Given the description of an element on the screen output the (x, y) to click on. 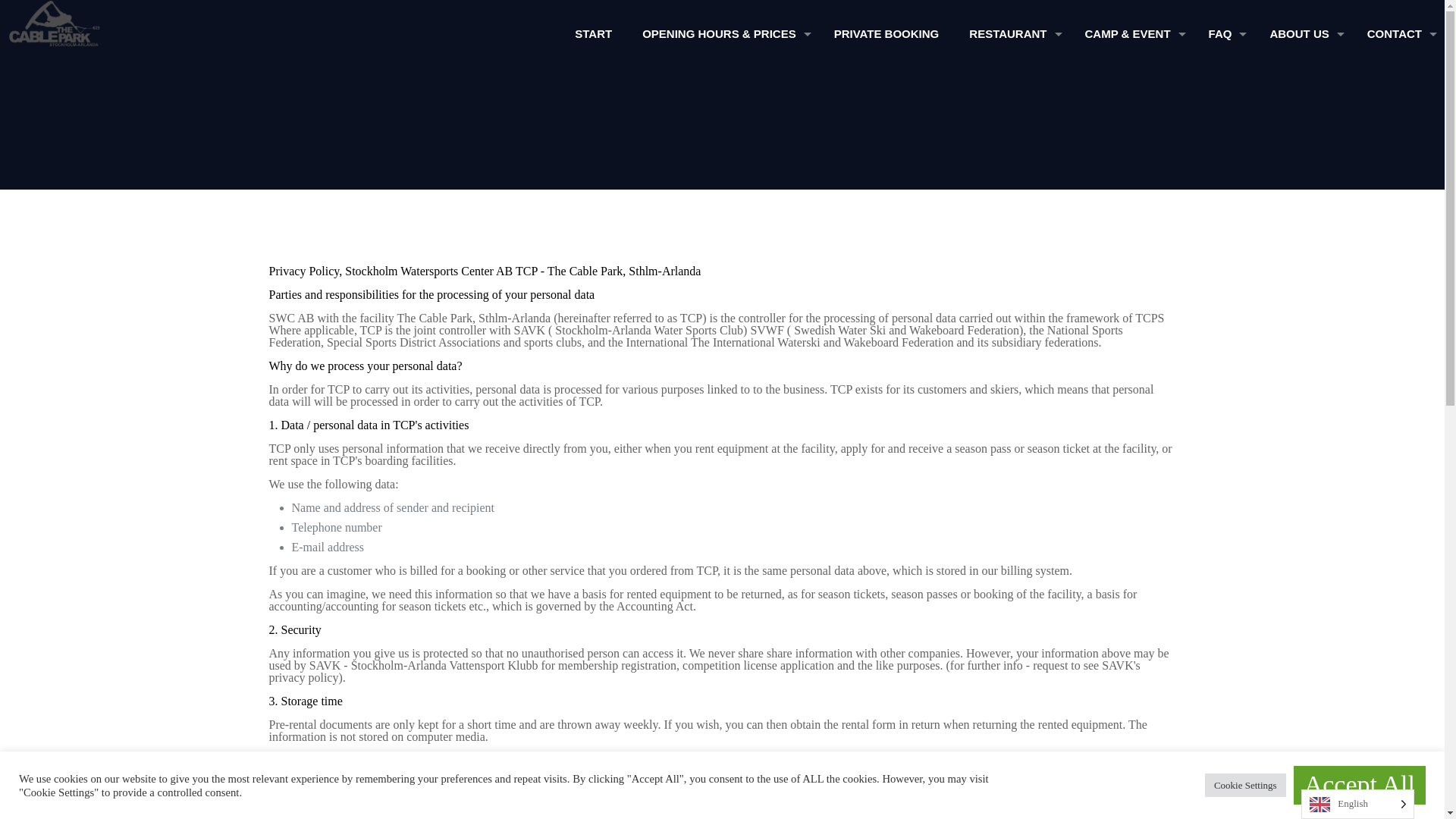
FAQ (1224, 33)
The Cable Park Sthlm-Arlanda (45, 22)
RESTAURANT (1010, 33)
PRIVATE BOOKING (886, 33)
ABOUT US (1302, 33)
START (593, 33)
